Given the description of an element on the screen output the (x, y) to click on. 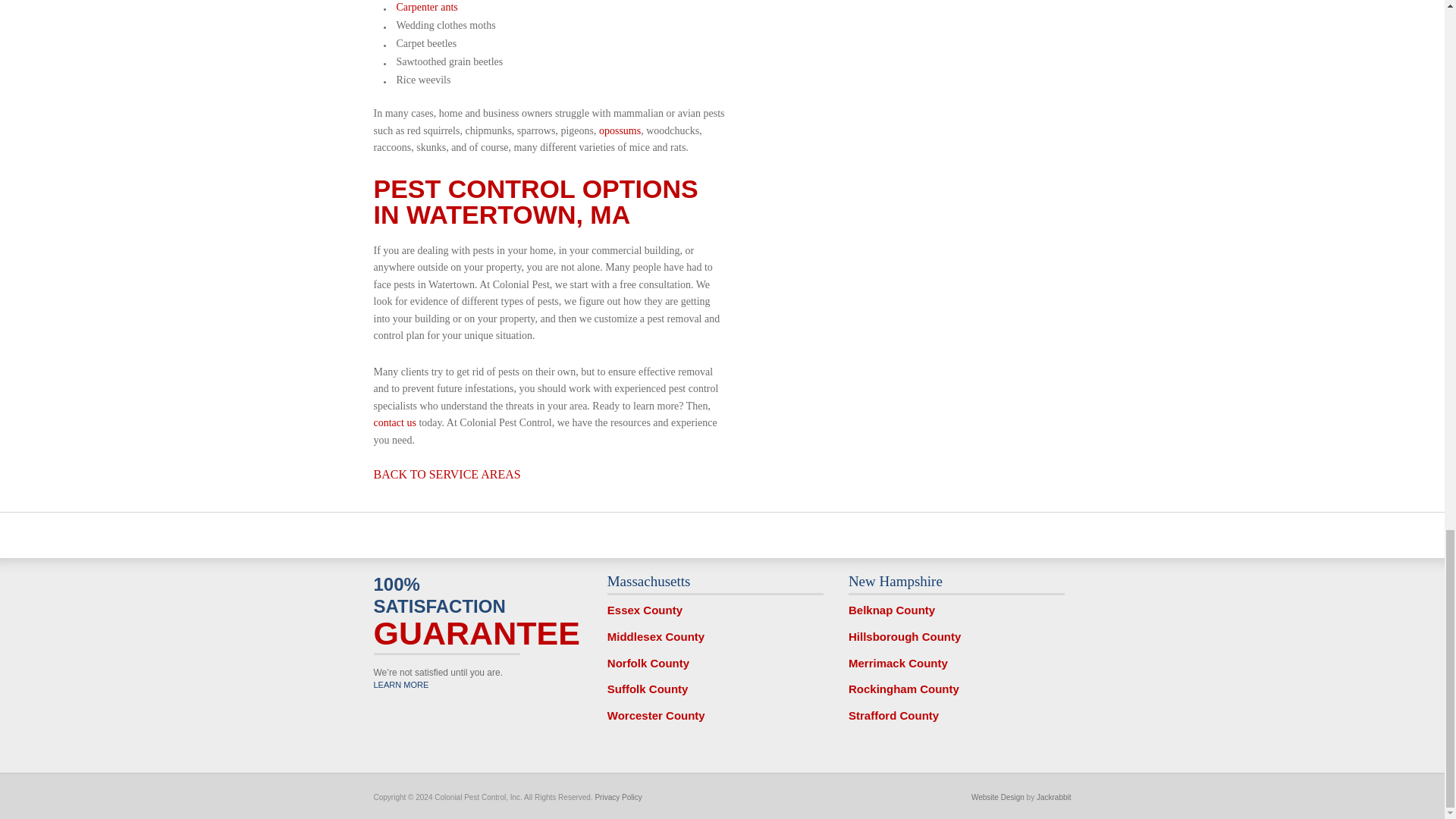
Website Design by Jackrabbit (1053, 797)
Website Design by Jackrabbit (998, 797)
